Given the description of an element on the screen output the (x, y) to click on. 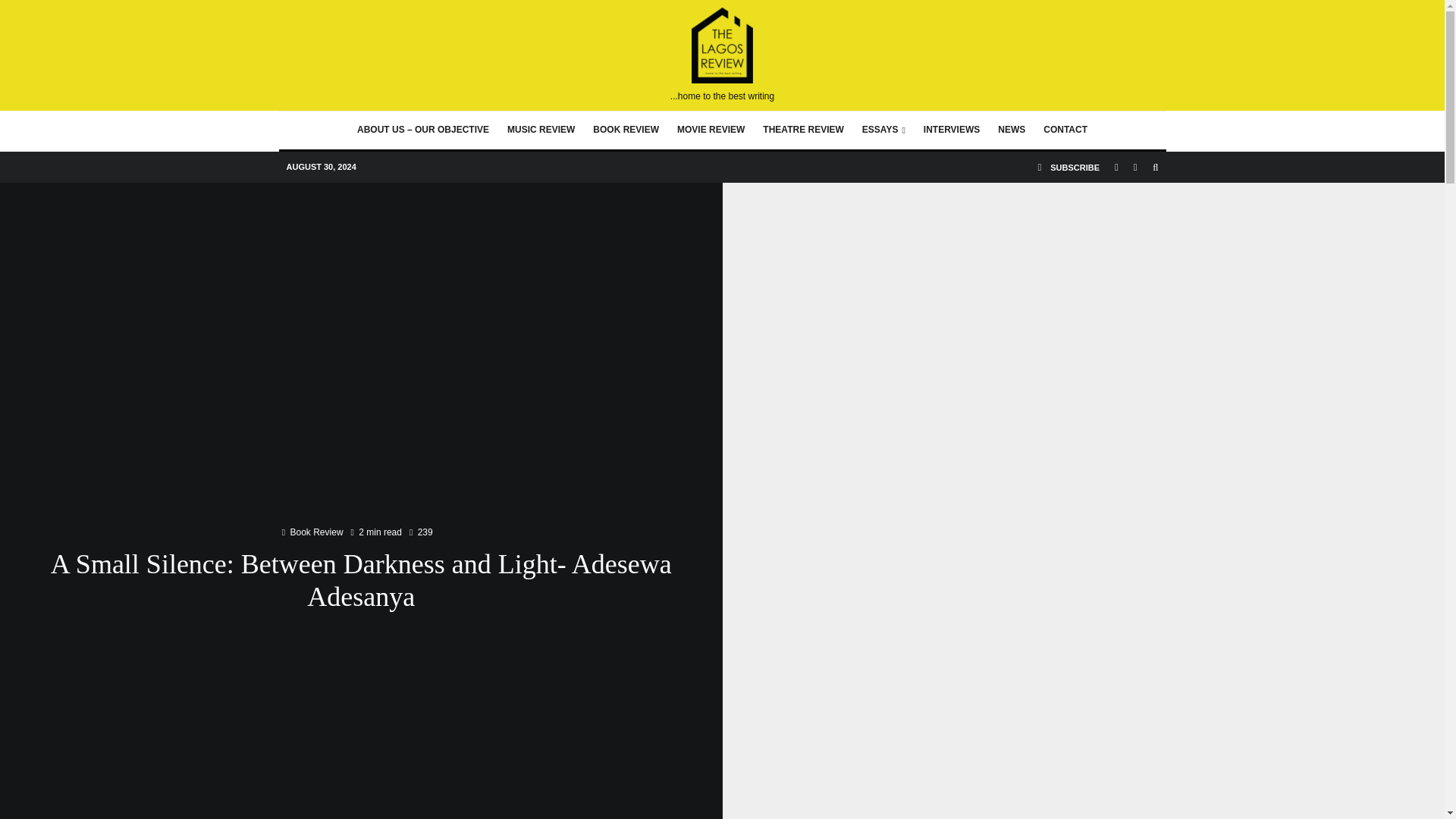
MOVIE REVIEW (711, 130)
...home to the best writing (721, 55)
THEATRE REVIEW (802, 130)
BOOK REVIEW (625, 130)
MUSIC REVIEW (540, 130)
